Given the description of an element on the screen output the (x, y) to click on. 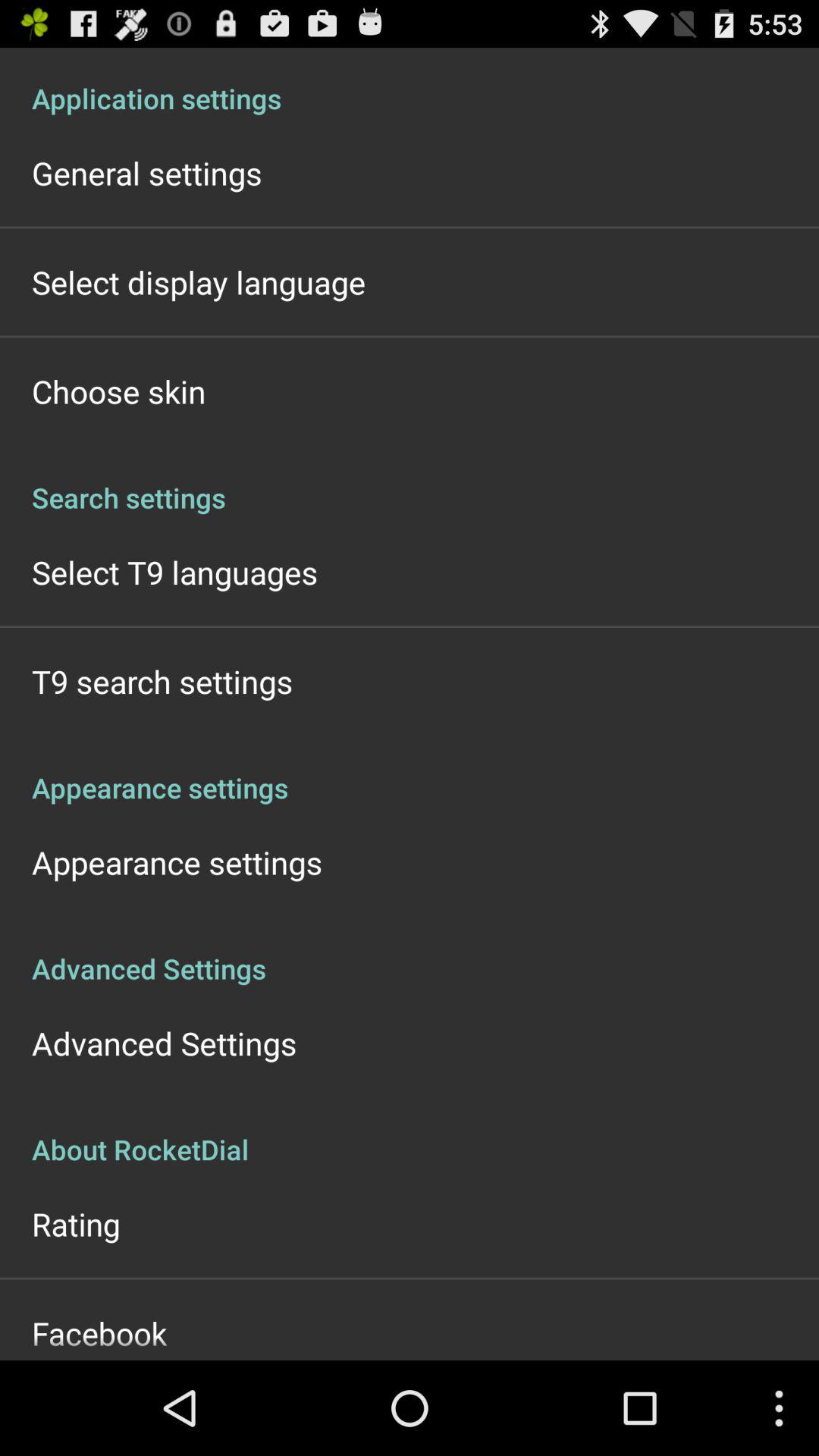
launch the icon above the facebook item (75, 1223)
